Given the description of an element on the screen output the (x, y) to click on. 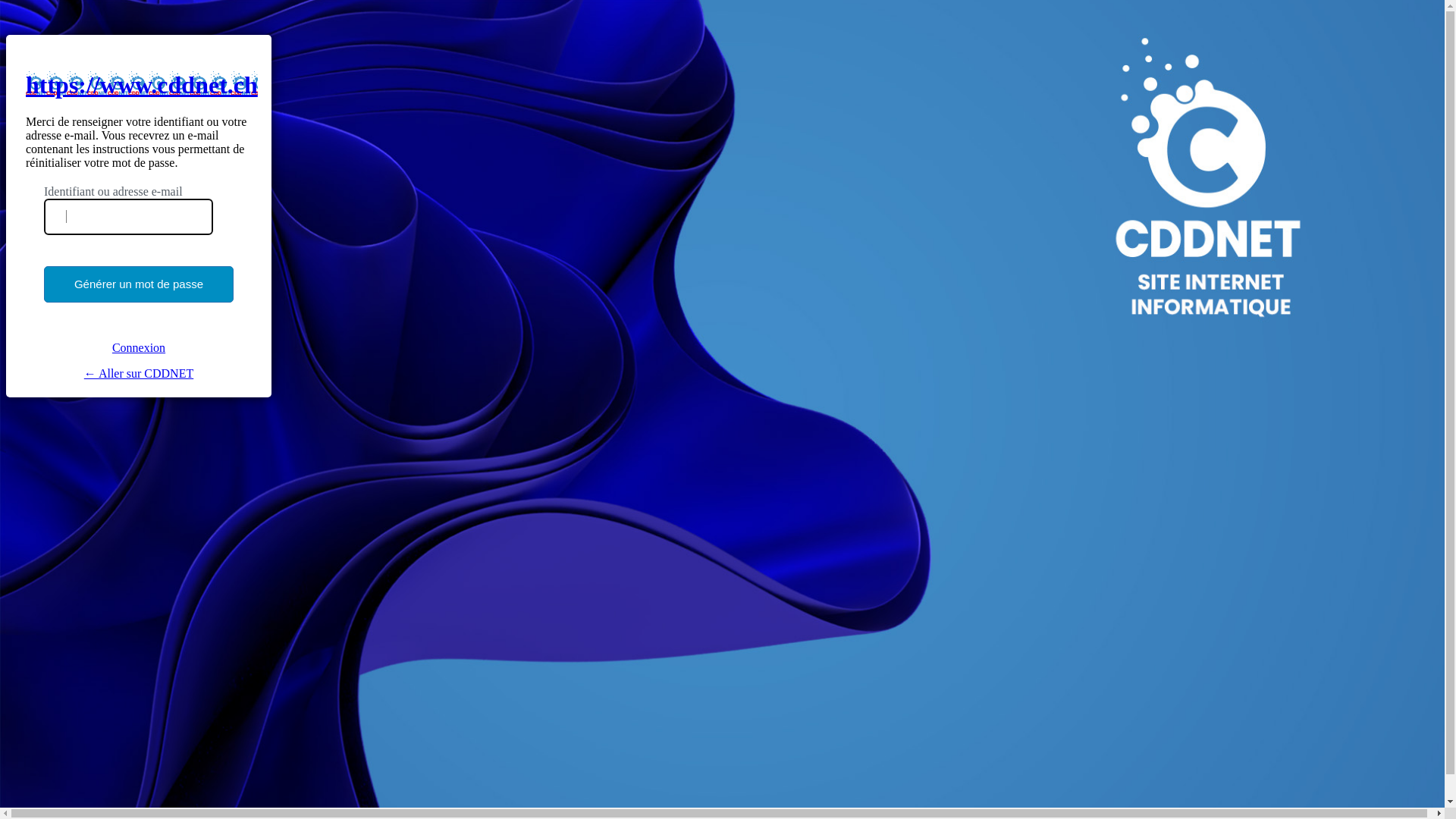
https://www.cddnet.ch Element type: text (141, 84)
Connexion Element type: text (138, 347)
